Given the description of an element on the screen output the (x, y) to click on. 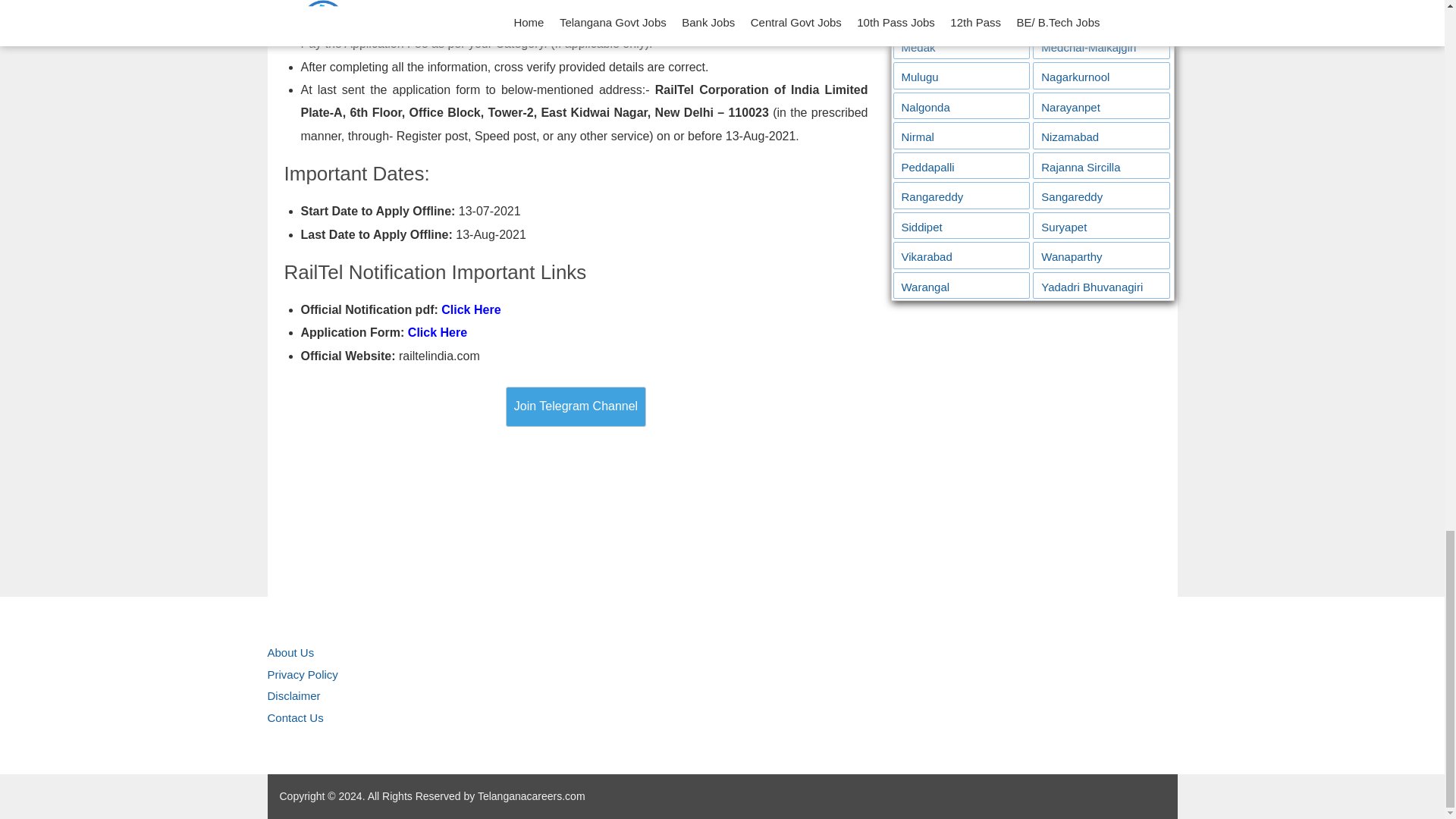
Click Here (437, 332)
Advertisement (1031, 437)
Click Here (470, 309)
Join Telegram Channel (575, 405)
